Given the description of an element on the screen output the (x, y) to click on. 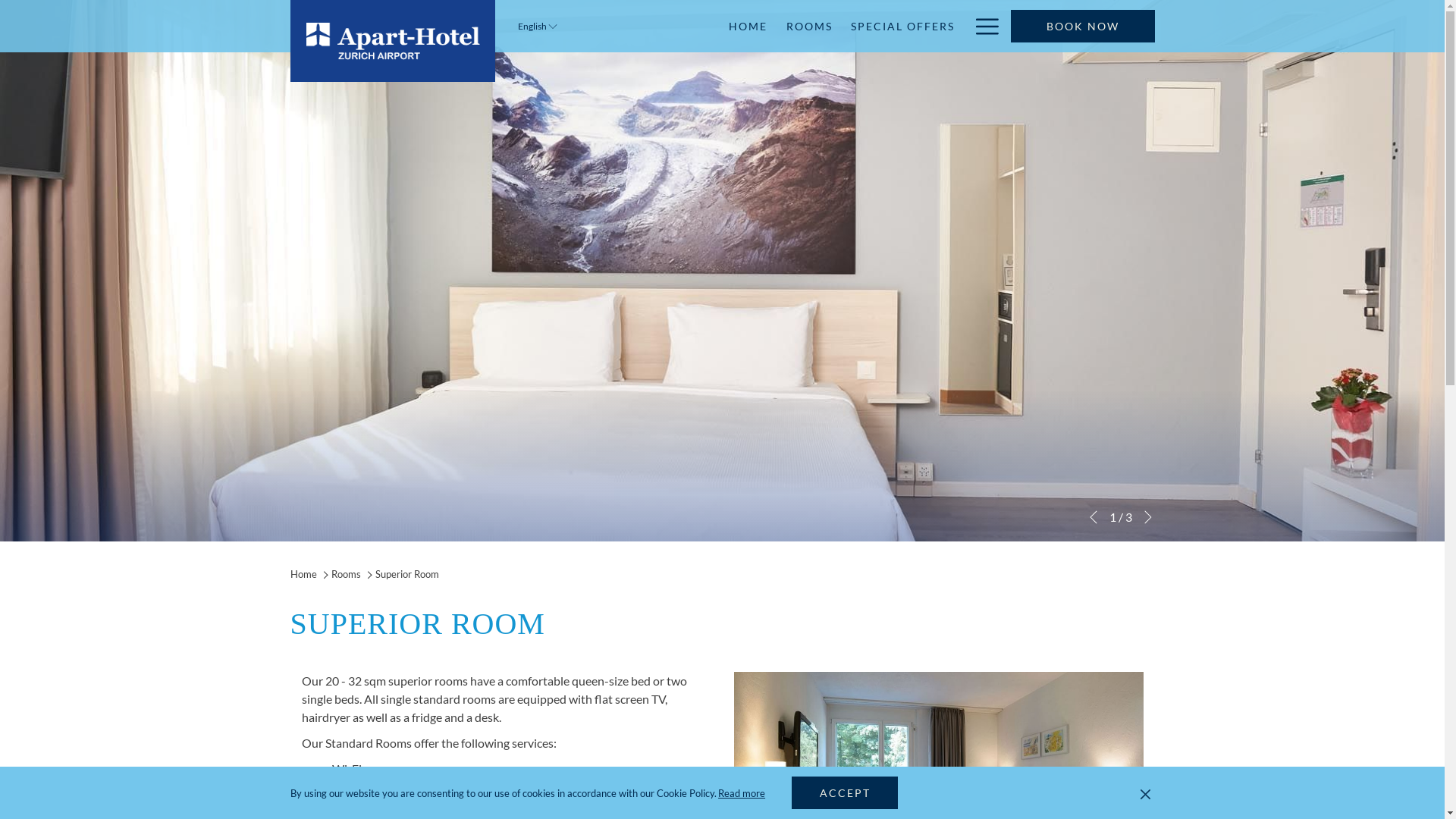
Previous Element type: text (1092, 517)
Home Element type: text (302, 573)
English Element type: text (536, 25)
Back to the homepage Element type: hover (391, 40)
Superior Room Element type: text (406, 573)
BOOK NOW Element type: text (1082, 25)
ROOMS Element type: text (808, 26)
More link
Menu Element type: text (981, 26)
ACCEPT Element type: text (844, 792)
Rooms Element type: text (346, 573)
Read more
(opens in a new tab) Element type: text (740, 792)
Next Element type: text (1147, 517)
HOME Element type: text (748, 26)
SPECIAL OFFERS Element type: text (902, 26)
